Given the description of an element on the screen output the (x, y) to click on. 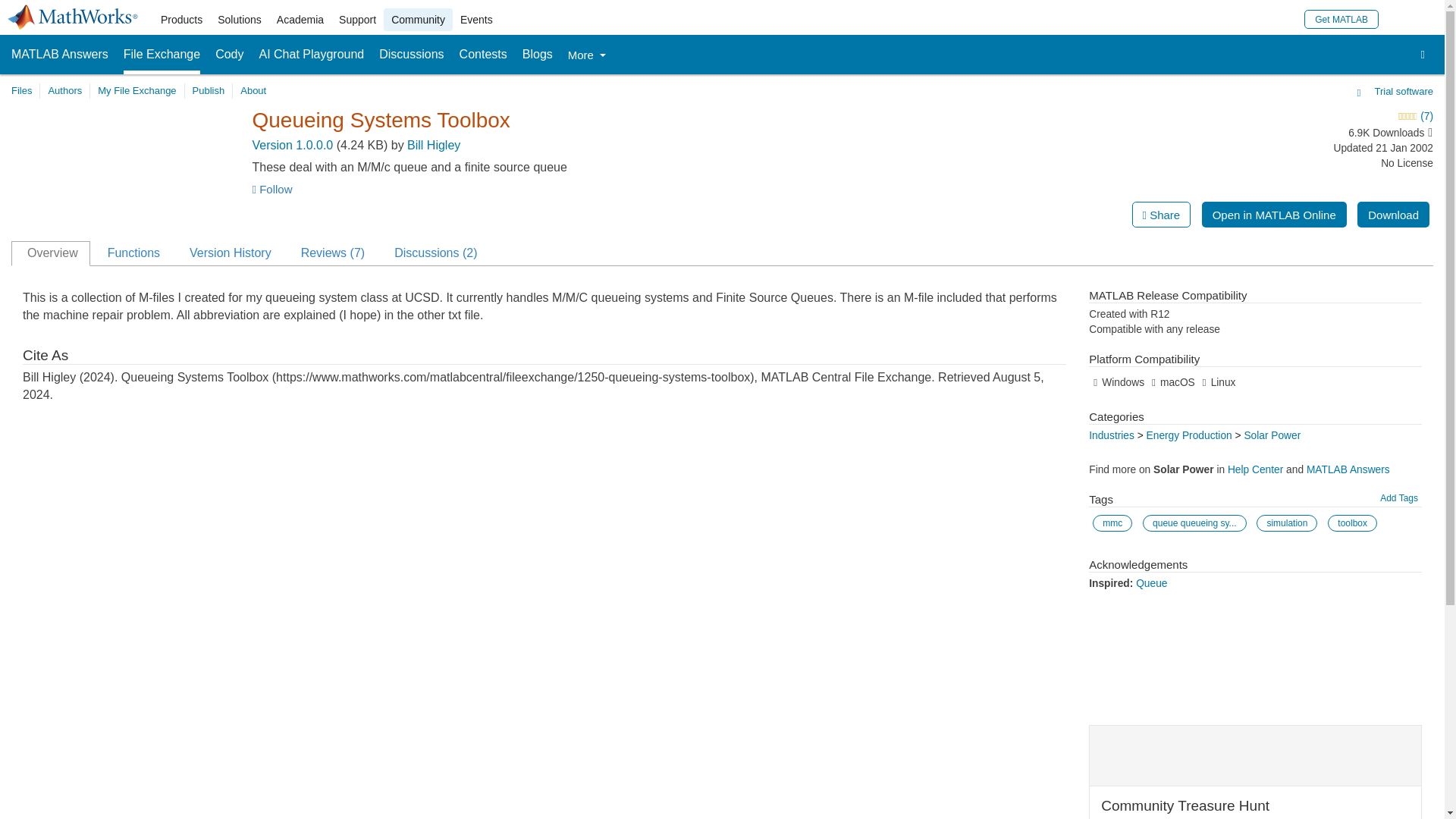
4.60 out of 5 stars (1293, 116)
Get MATLAB (1341, 18)
Blogs (537, 54)
Products (180, 19)
Events (476, 19)
MATLAB Answers (59, 54)
Support (357, 19)
Discussions (411, 54)
File Exchange (161, 54)
Cody (229, 54)
AI Chat Playground (312, 54)
Academia (300, 19)
Contests (483, 54)
Sign In to Your MathWorks Account (1396, 18)
More (586, 54)
